Given the description of an element on the screen output the (x, y) to click on. 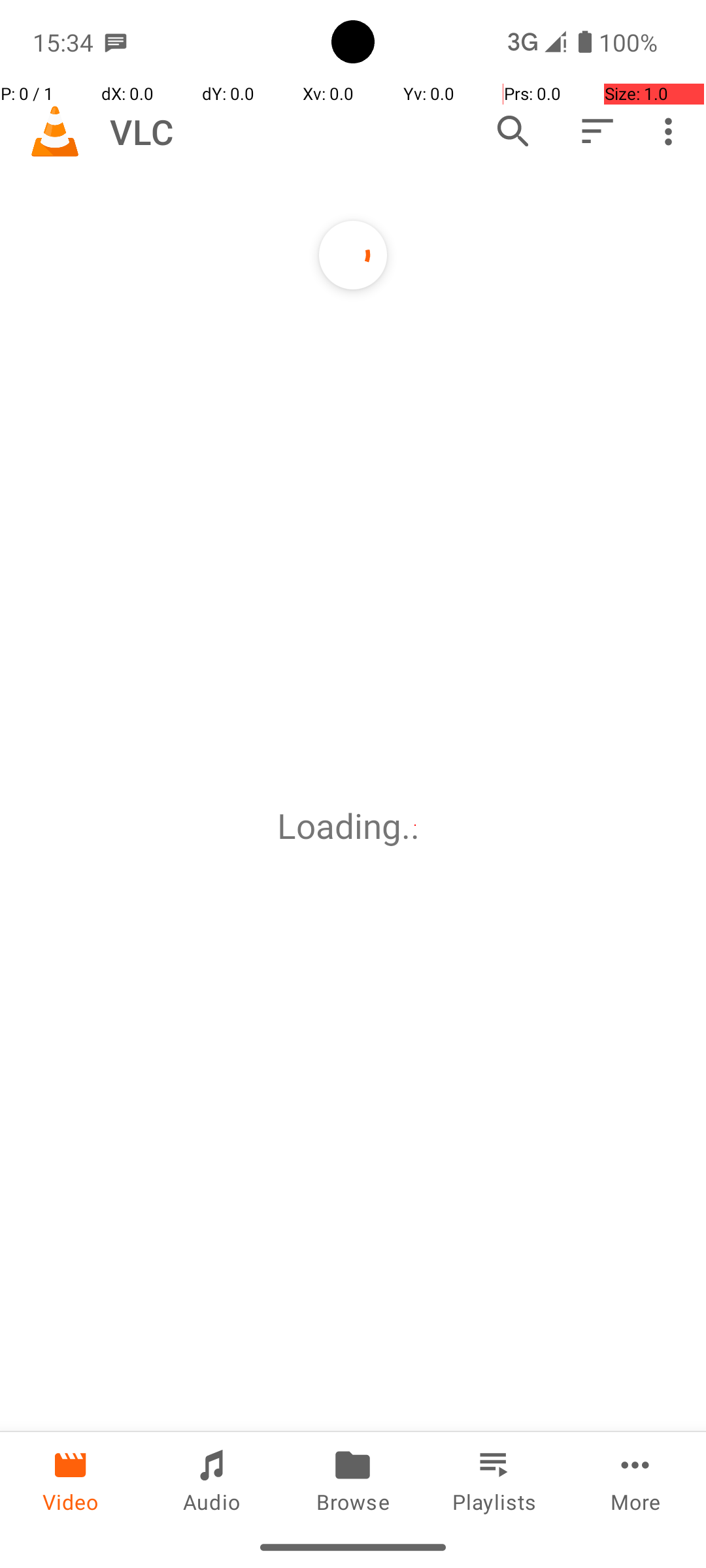
.. Element type: android.widget.TextView (414, 825)
